Given the description of an element on the screen output the (x, y) to click on. 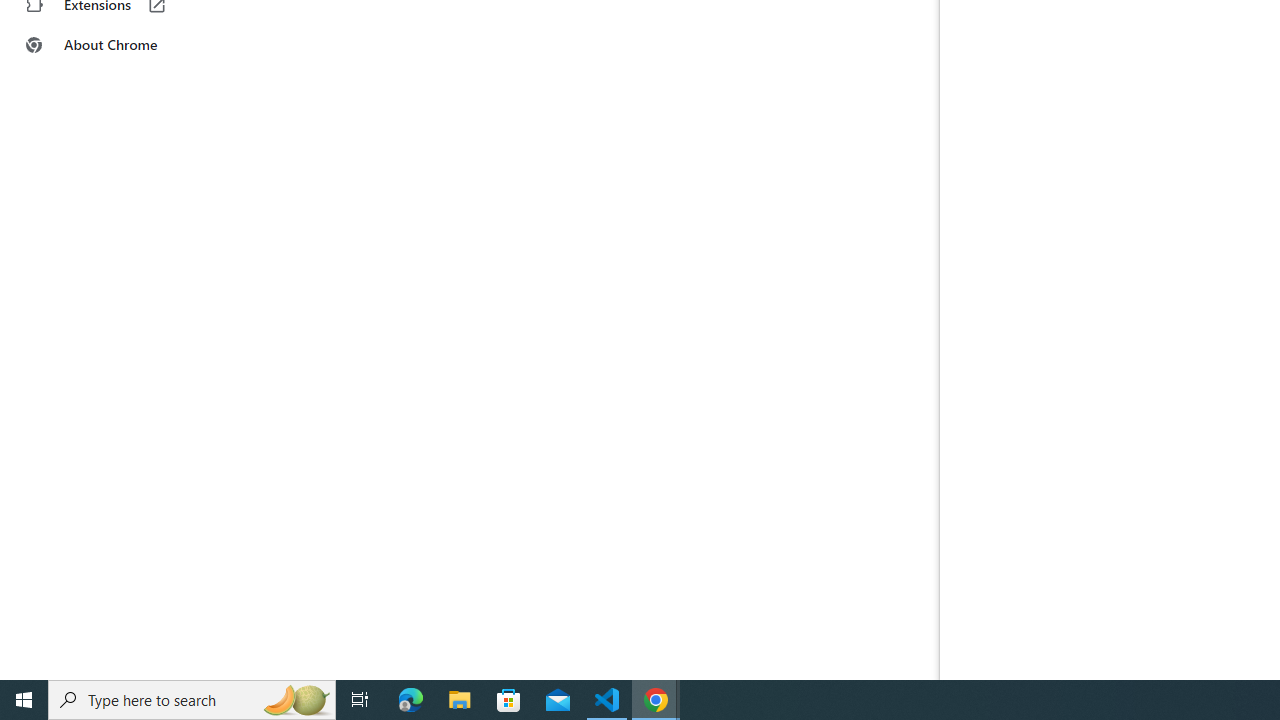
About Chrome (124, 44)
